Given the description of an element on the screen output the (x, y) to click on. 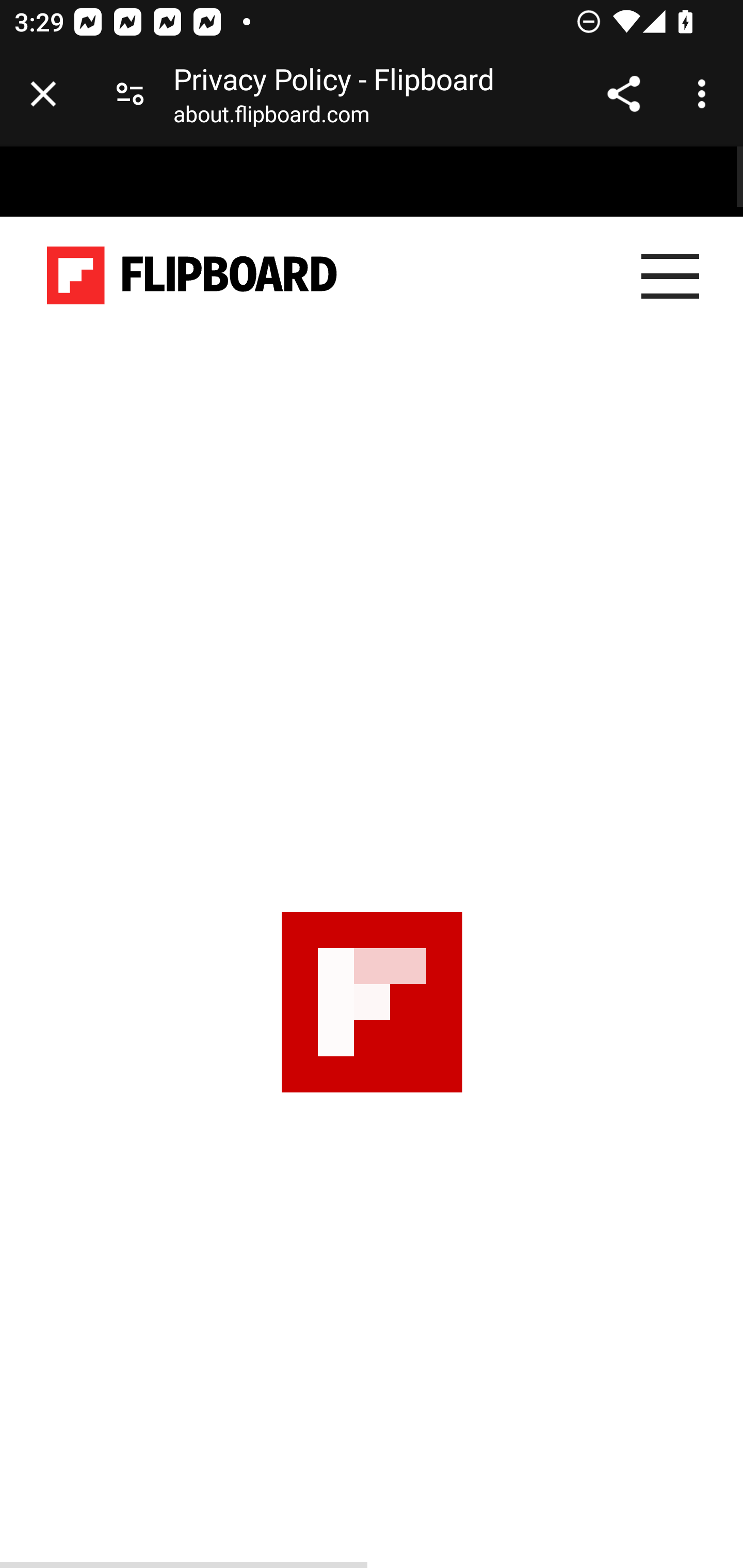
Close tab (43, 93)
Share link address (623, 93)
Customize and control Google Chrome (705, 93)
Connection is secure (129, 93)
about.flipboard.com (271, 117)
Flipboard Logo (192, 276)
